Given the description of an element on the screen output the (x, y) to click on. 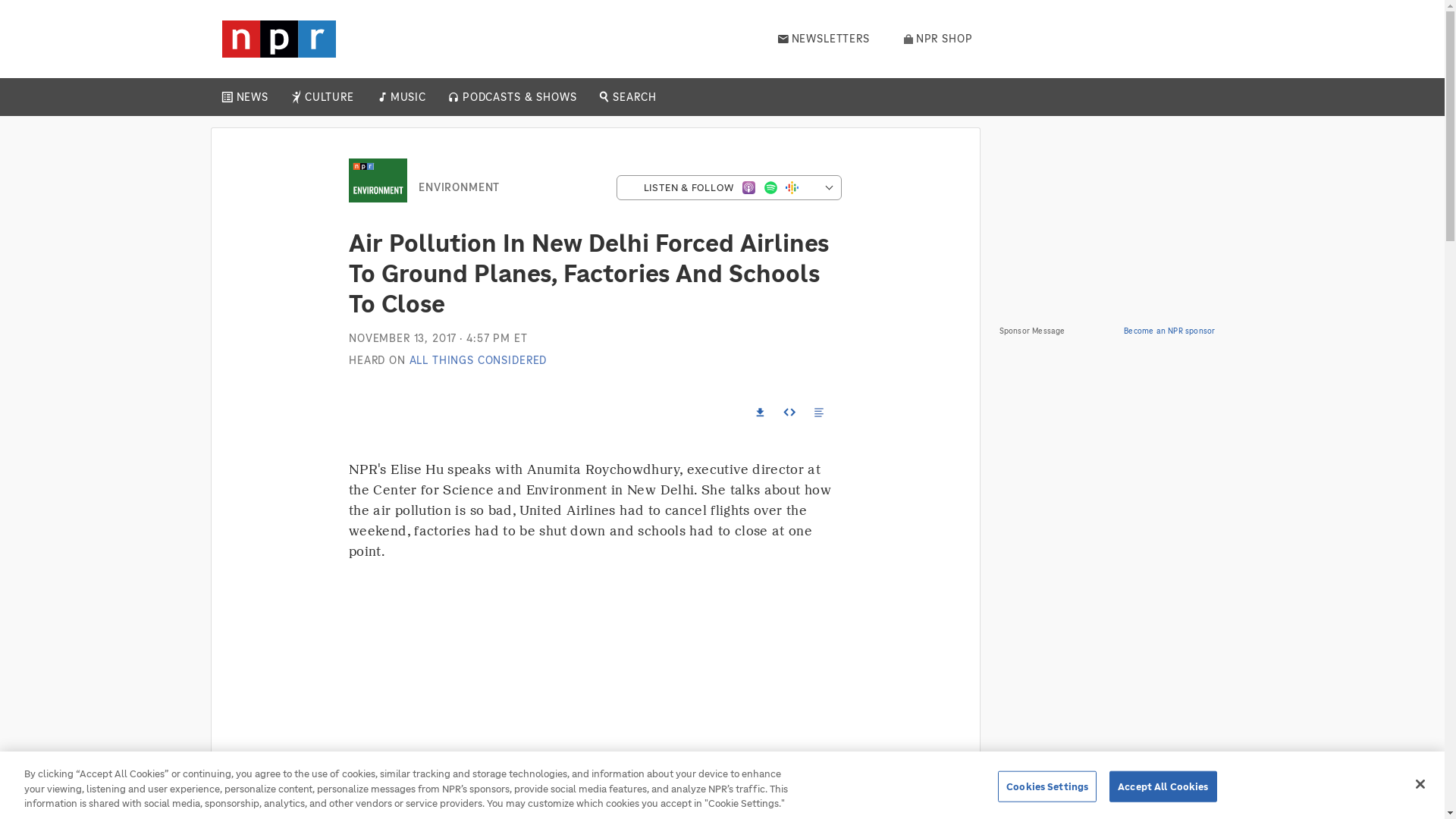
MUSIC (407, 96)
CULTURE (328, 96)
NEWS (251, 96)
NEWSLETTERS (823, 38)
NPR SHOP (938, 38)
